Given the description of an element on the screen output the (x, y) to click on. 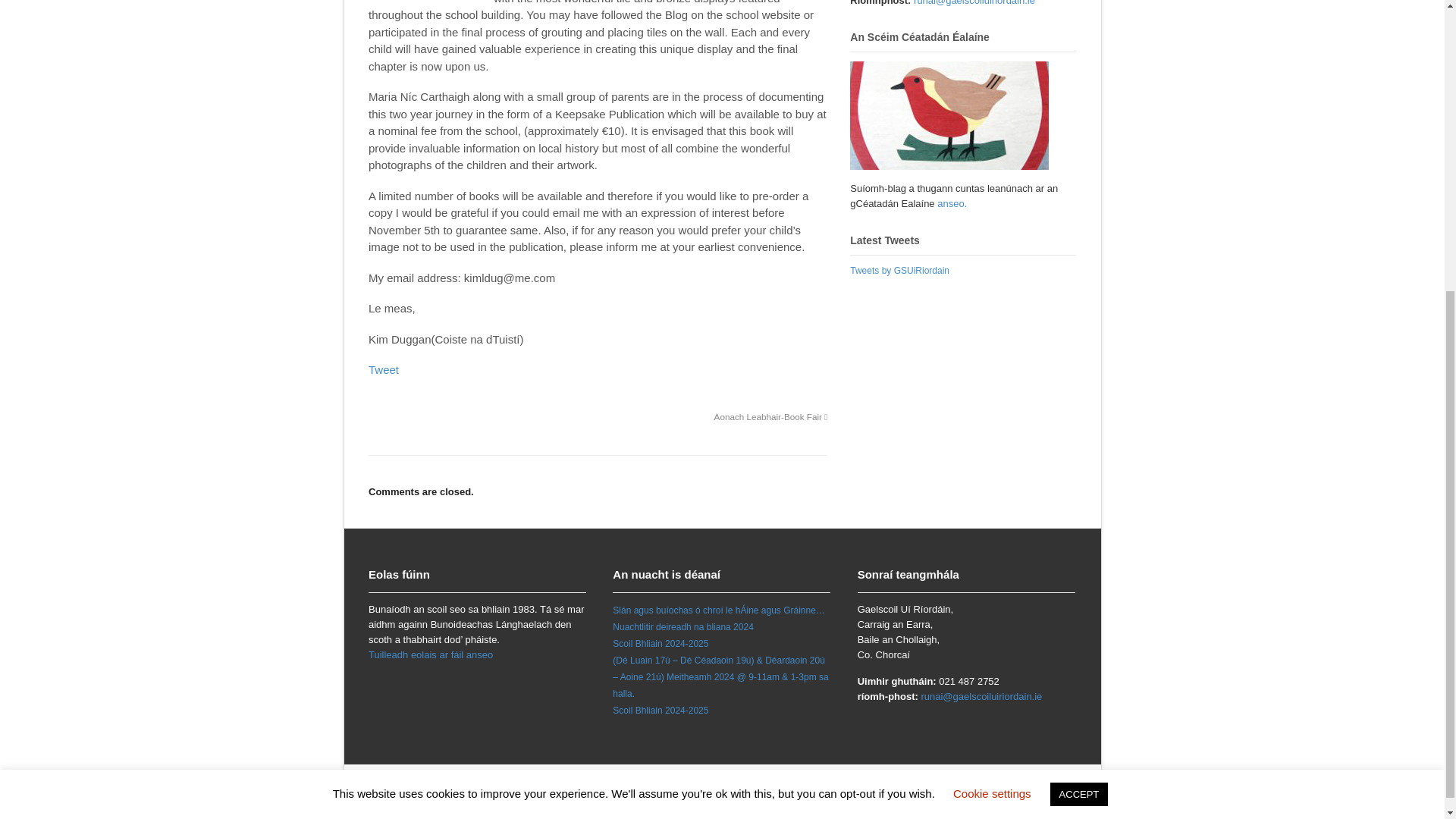
Tweet (383, 369)
Aonach Leabhair-Book Fair (771, 416)
anseo. (951, 203)
